Given the description of an element on the screen output the (x, y) to click on. 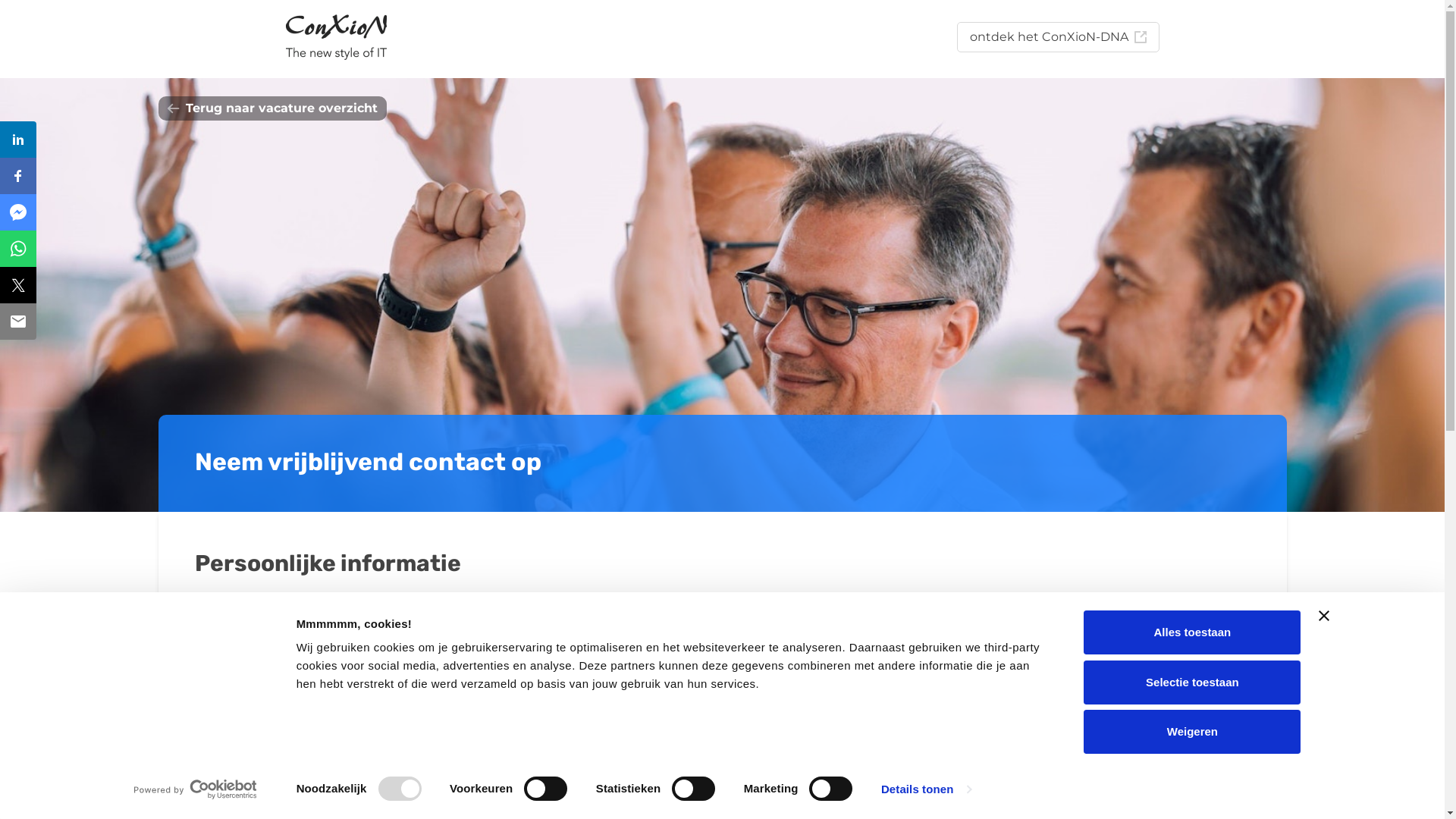
Selectie toestaan Element type: text (1191, 681)
Details tonen Element type: text (926, 789)
Terug naar vacature overzicht Element type: text (271, 108)
Weigeren Element type: text (1191, 731)
Alles toestaan Element type: text (1191, 632)
ontdek het ConXioN-DNA Element type: text (1058, 36)
